Given the description of an element on the screen output the (x, y) to click on. 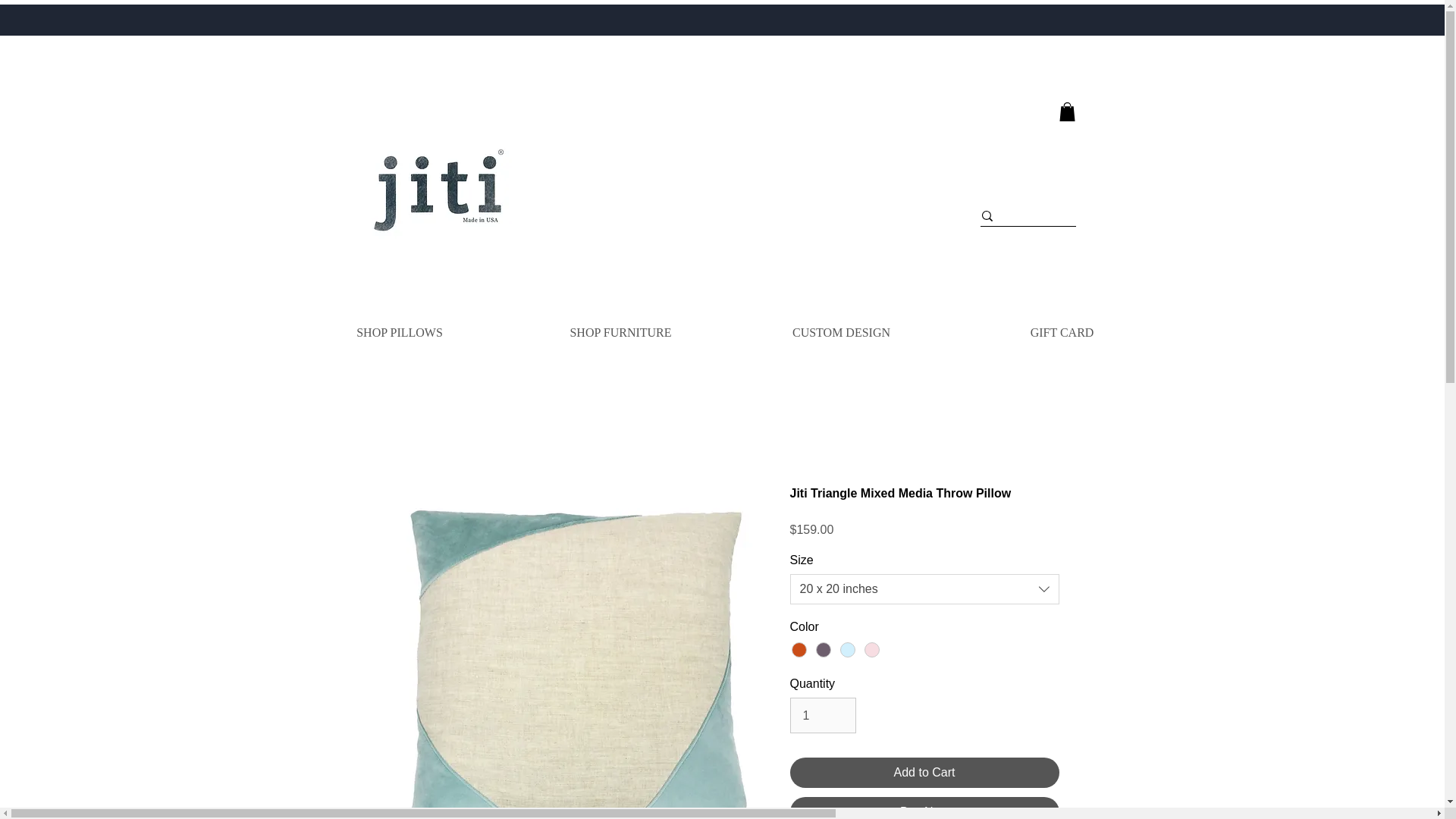
Buy Now (924, 807)
1 (823, 714)
CUSTOM DESIGN (841, 332)
jiti logo XX.png (436, 188)
Add to Cart (924, 772)
20 x 20 inches (924, 589)
GIFT CARD (1061, 332)
